Given the description of an element on the screen output the (x, y) to click on. 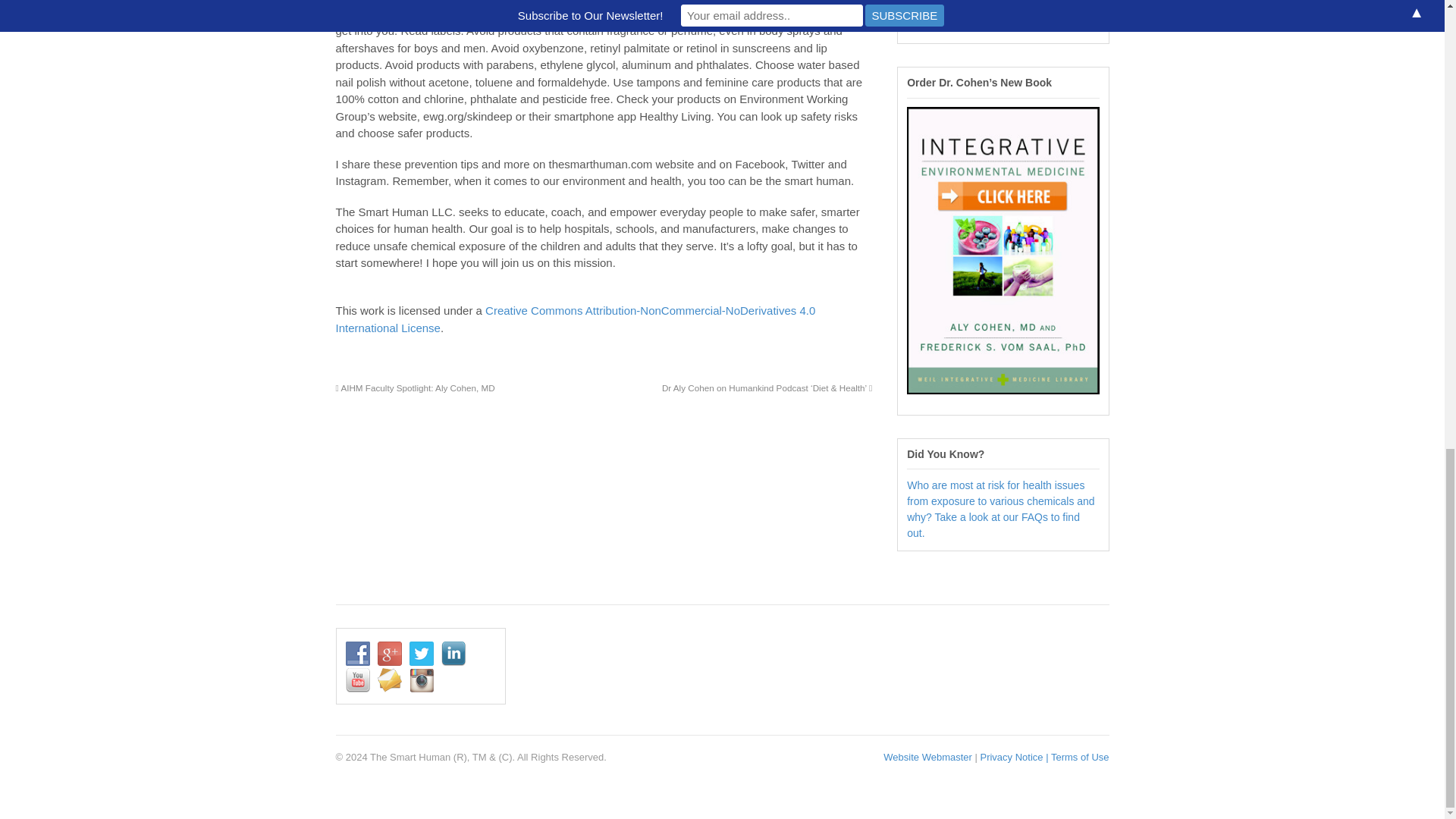
Follow Us on LinkedIn (1014, 2)
Follow Us on Facebook (919, 2)
Follow Us on E-mail (1077, 2)
Follow Us on Twitter (982, 2)
AIHM Faculty Spotlight: Aly Cohen, MD (414, 388)
Follow Us on Twitter (421, 653)
Follow Us on YouTube (1045, 2)
Follow Us on Facebook (357, 653)
Follow Us on Instagram (919, 19)
